Given the description of an element on the screen output the (x, y) to click on. 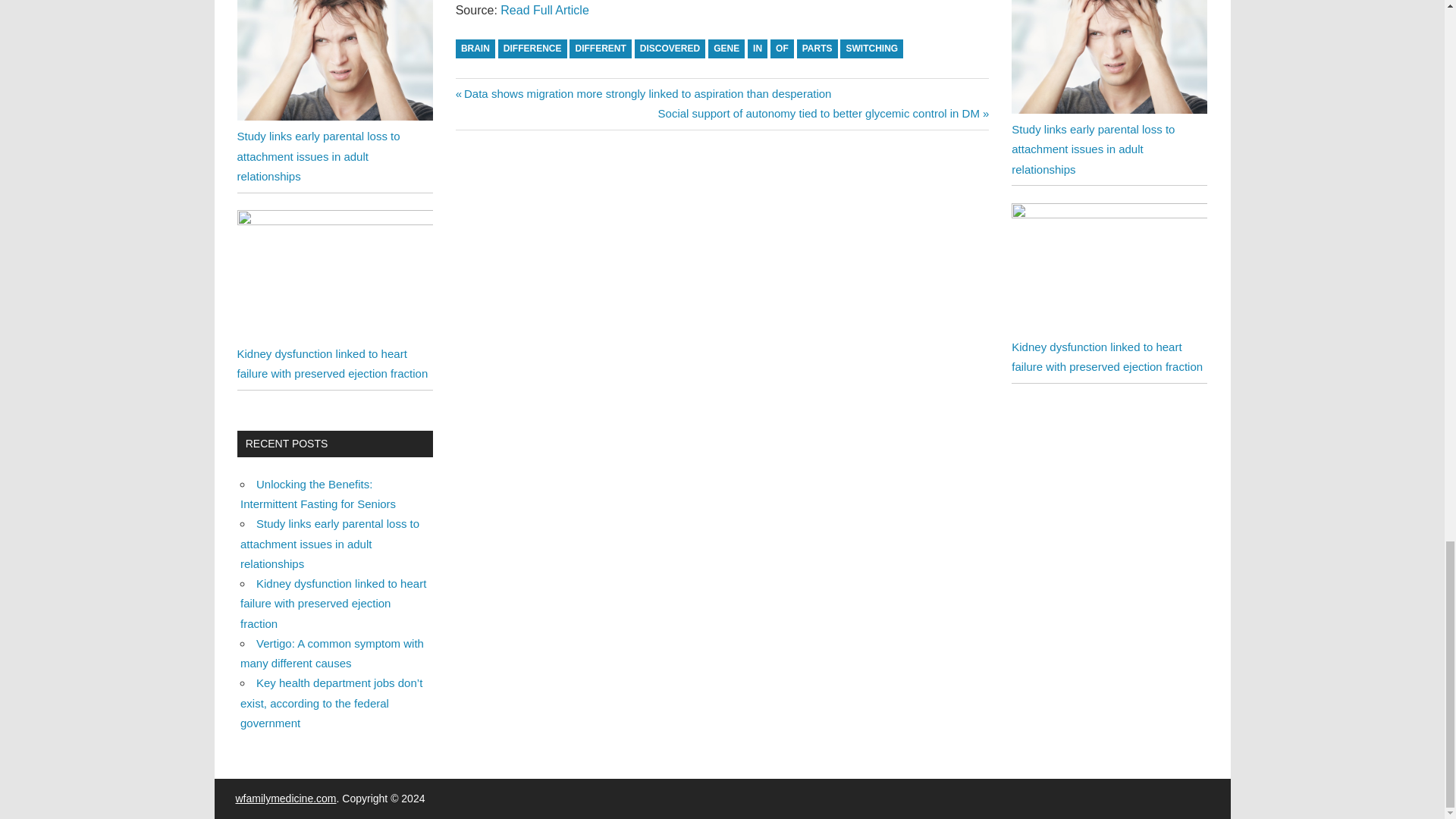
IN (757, 48)
DIFFERENT (600, 48)
OF (781, 48)
PARTS (817, 48)
BRAIN (475, 48)
GENE (725, 48)
DISCOVERED (670, 48)
Read Full Article (544, 10)
SWITCHING (871, 48)
DIFFERENCE (532, 48)
